Given the description of an element on the screen output the (x, y) to click on. 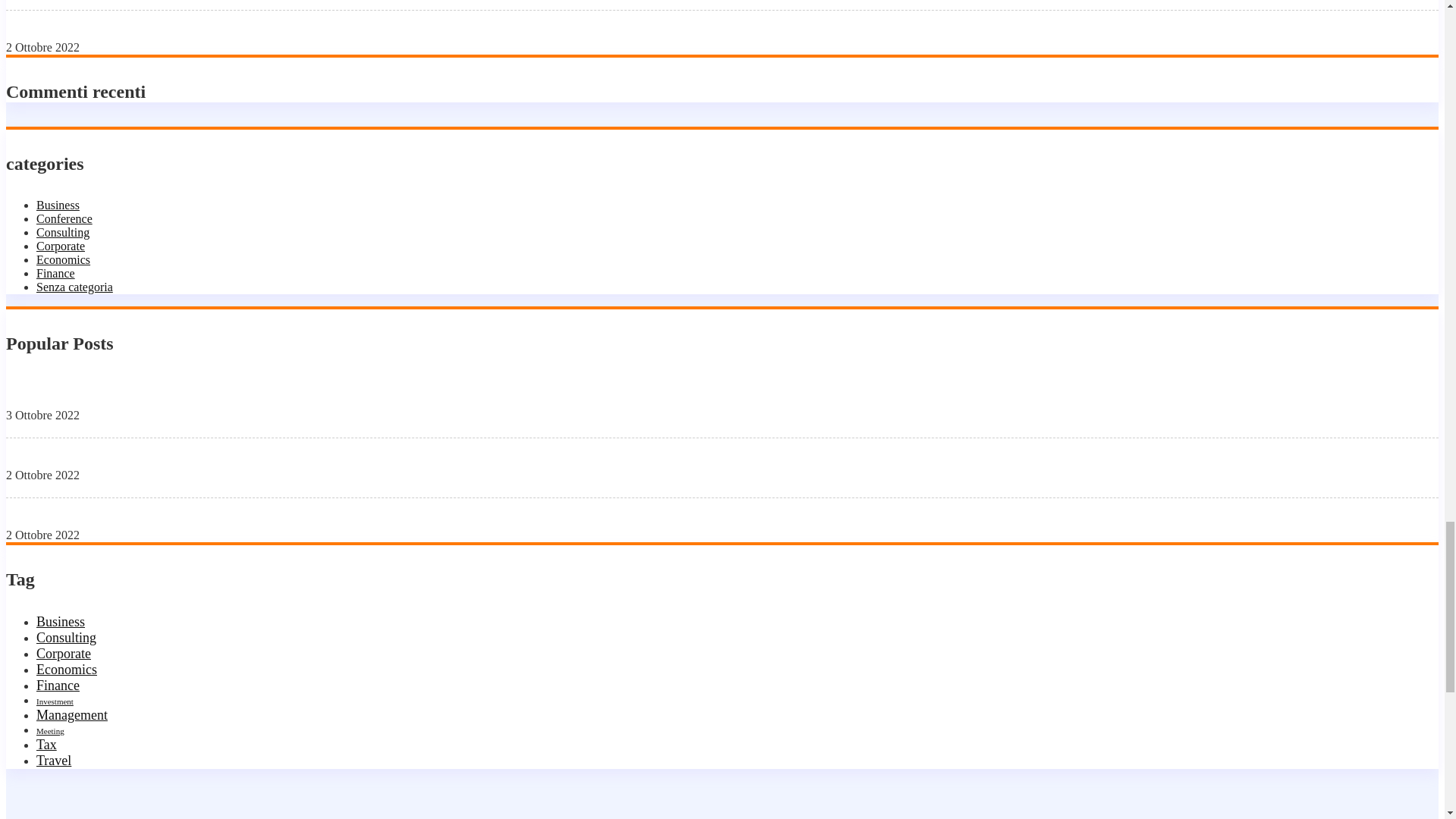
Consulting (66, 637)
Corporate (63, 653)
Corporate (60, 245)
Finance (55, 273)
Investment (55, 700)
Conference (64, 218)
Senza categoria (74, 286)
Business (60, 621)
Consulting (62, 232)
Finance (58, 685)
